Given the description of an element on the screen output the (x, y) to click on. 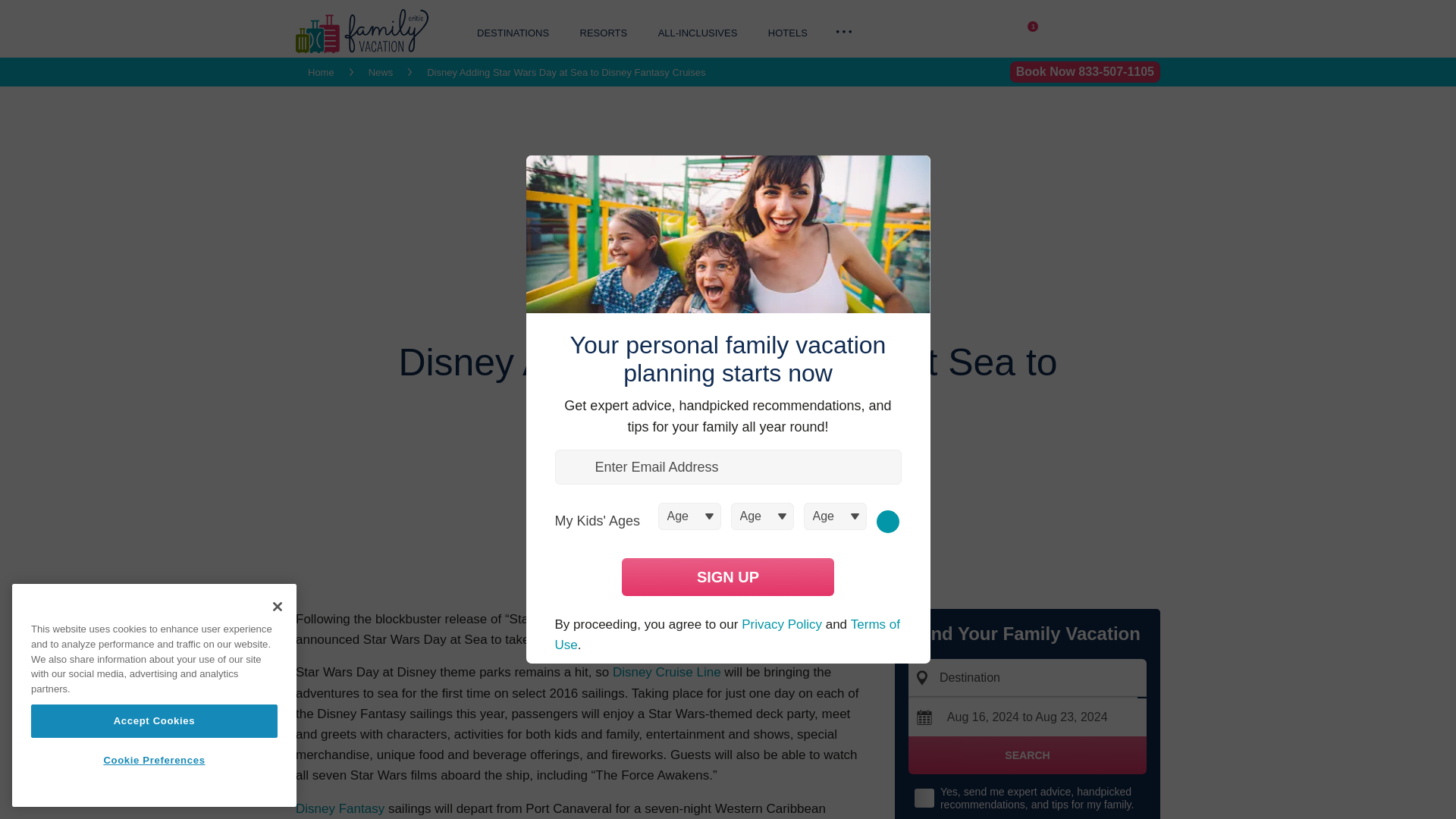
Sign Up (727, 576)
Book Now 833-507-1105 (1085, 71)
Home (320, 71)
Family Vacation Critic (361, 48)
ALL-INCLUSIVES (698, 32)
Visit Family Vacation Critic on Instagram! (998, 32)
RESORTS (603, 32)
HOTELS (788, 32)
Sign Up (727, 480)
